Given the description of an element on the screen output the (x, y) to click on. 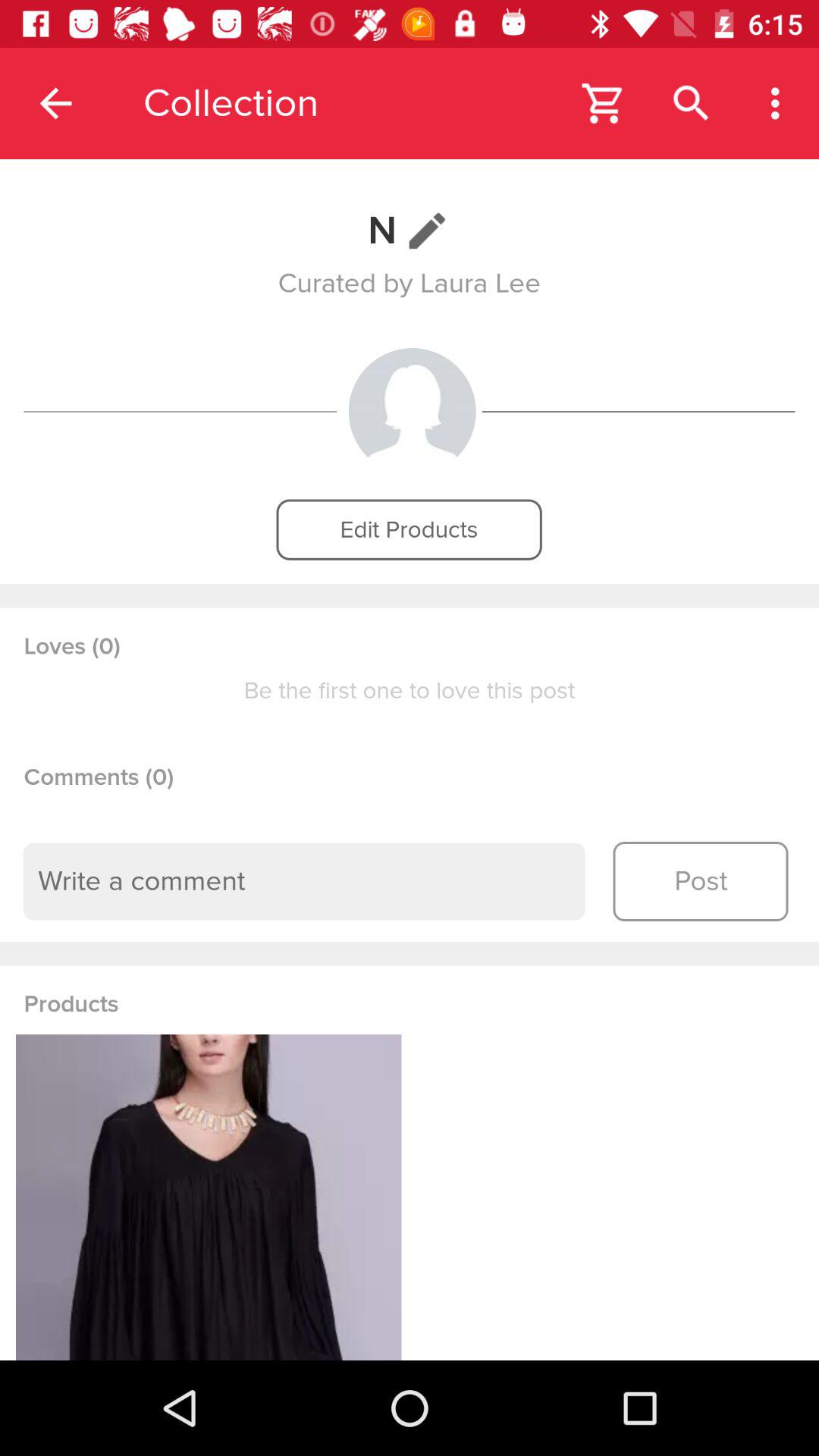
choose the edit products icon (409, 529)
